Given the description of an element on the screen output the (x, y) to click on. 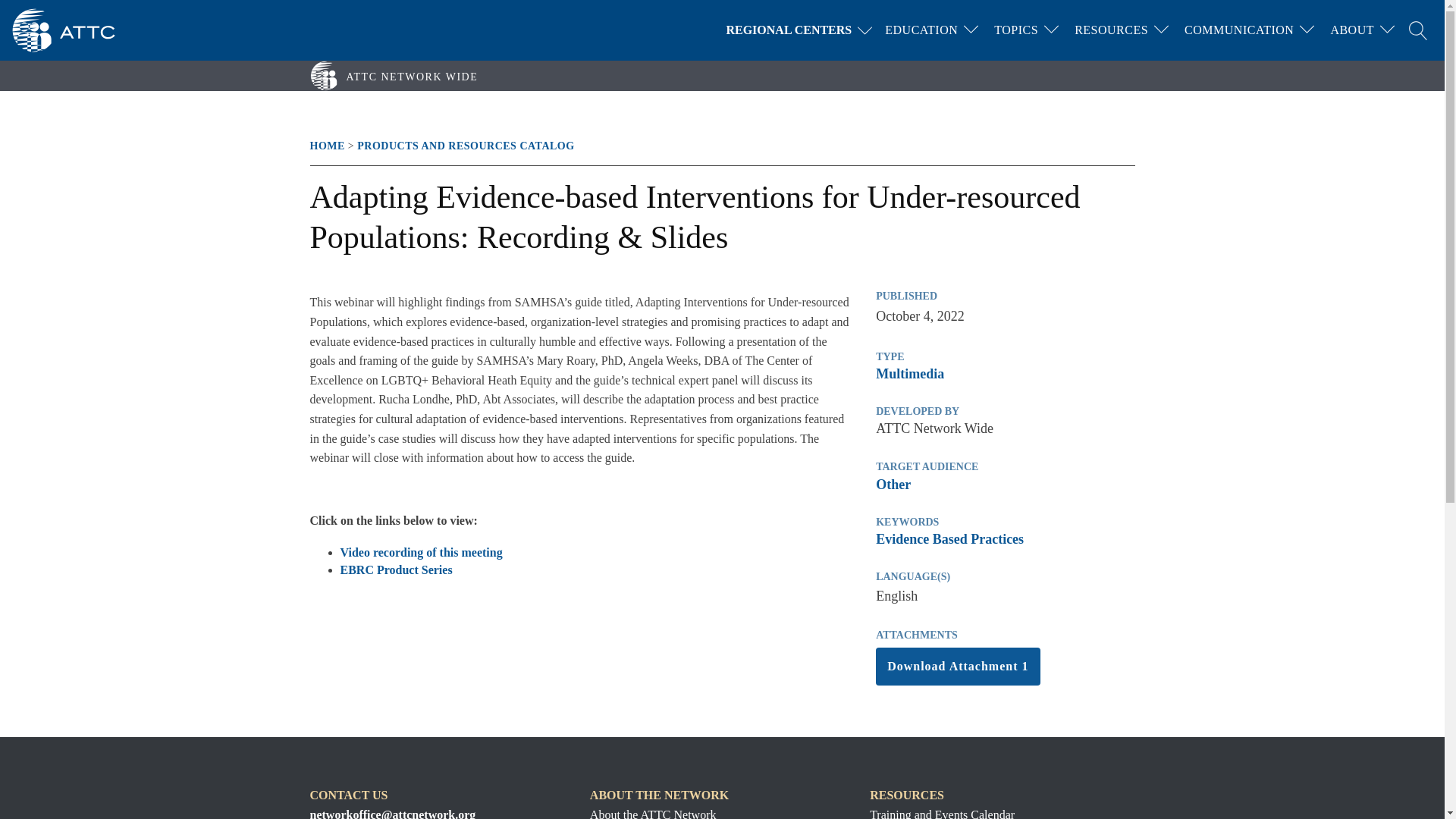
EDUCATION (921, 30)
REGIONAL CENTERS (802, 30)
TOPICS (1015, 30)
RESOURCES (1111, 30)
